Given the description of an element on the screen output the (x, y) to click on. 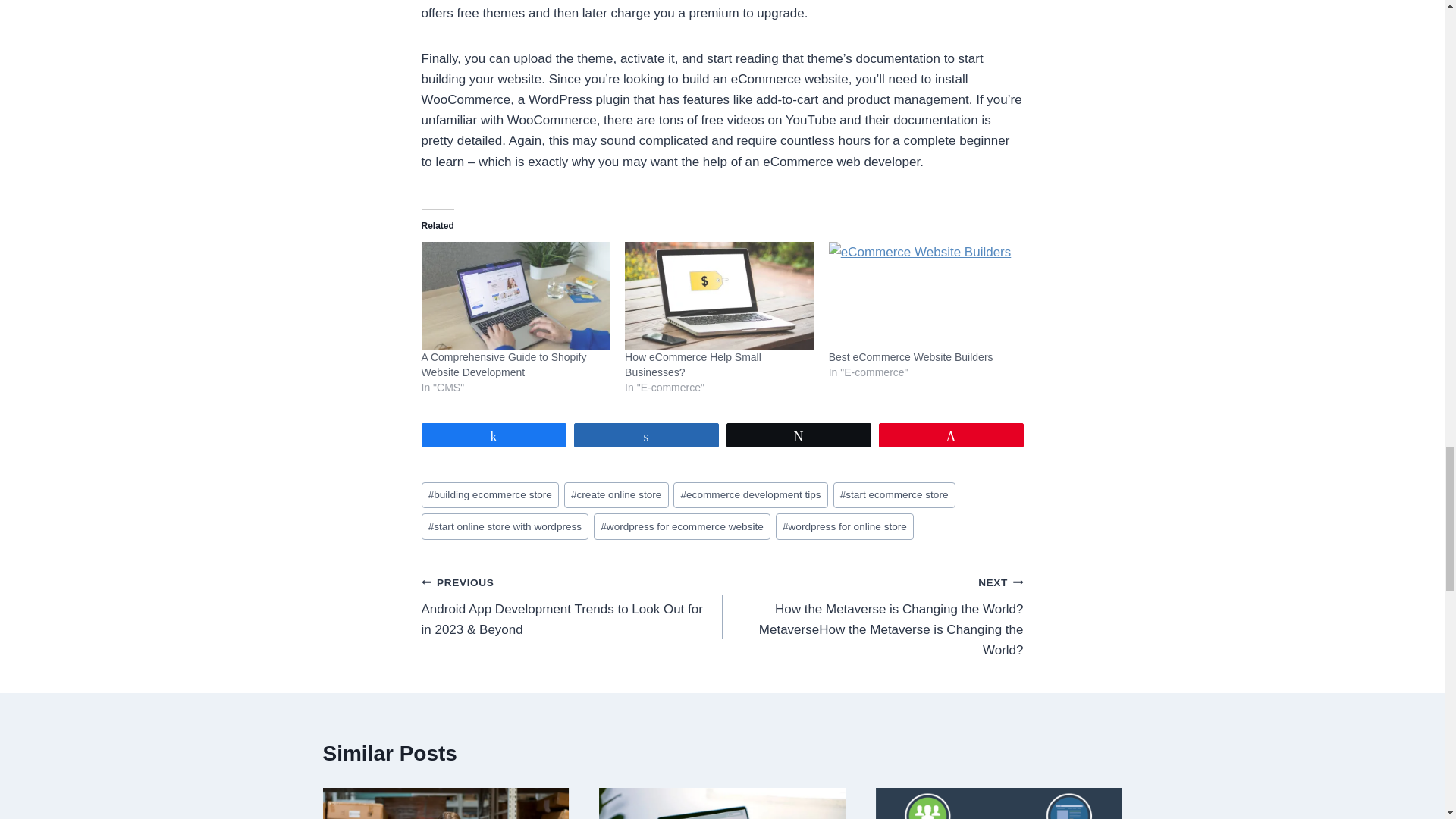
A Comprehensive Guide to Shopify Website Development (516, 295)
start ecommerce store (893, 495)
How eCommerce Help Small Businesses? (718, 295)
Best eCommerce Website Builders (910, 357)
create online store (616, 495)
wordpress for ecommerce website (682, 526)
start online store with wordpress (505, 526)
A Comprehensive Guide to Shopify Website Development (504, 364)
building ecommerce store (490, 495)
wordpress for online store (845, 526)
ecommerce development tips (749, 495)
How eCommerce Help Small Businesses? (692, 364)
Best eCommerce Website Builders (910, 357)
Best eCommerce Website Builders (922, 295)
How eCommerce Help Small Businesses? (692, 364)
